Given the description of an element on the screen output the (x, y) to click on. 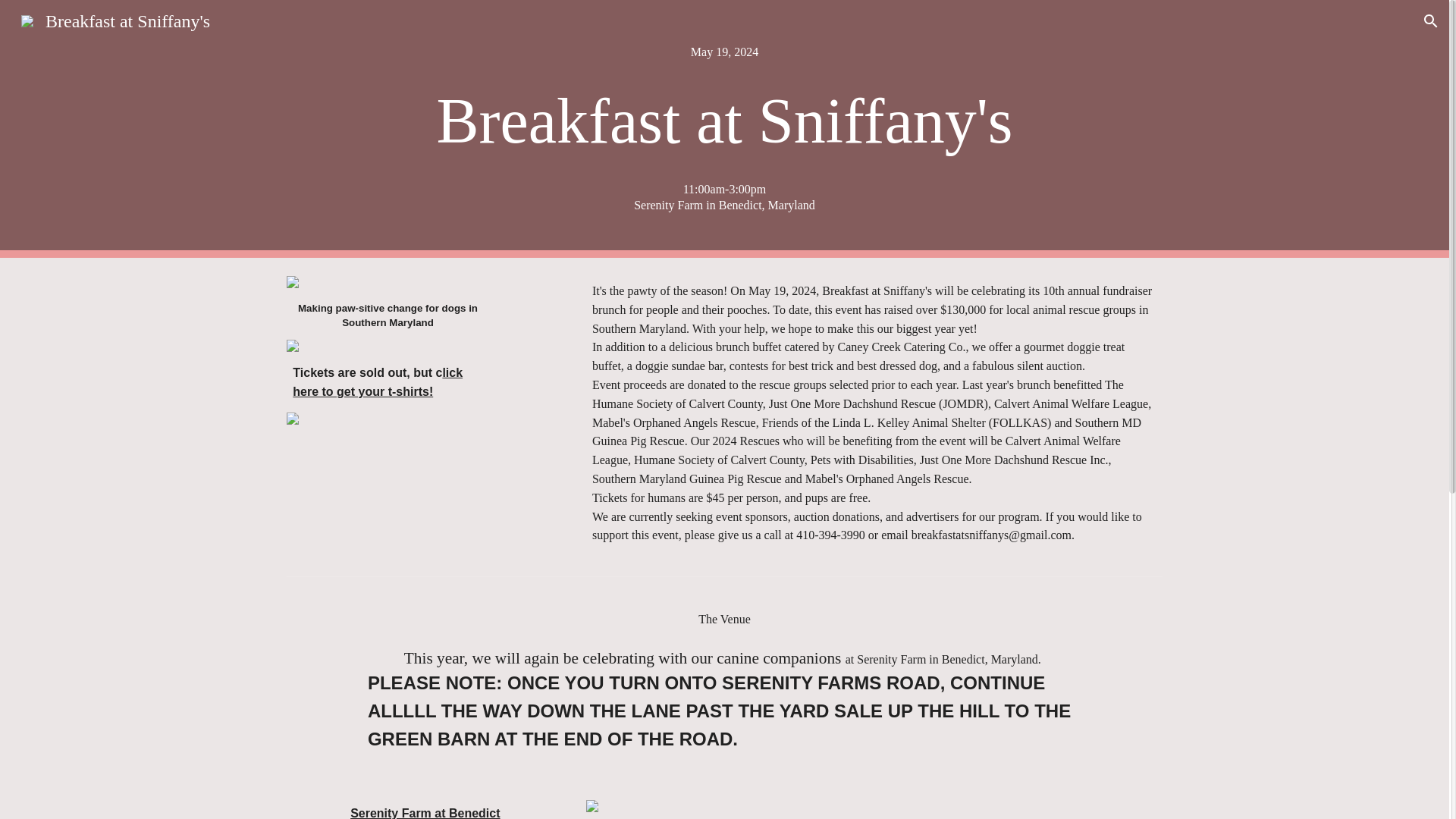
Serenity Farm at Benedict (424, 812)
lick here to get your t-shirts! (377, 382)
Breakfast at Sniffany's (115, 19)
